Given the description of an element on the screen output the (x, y) to click on. 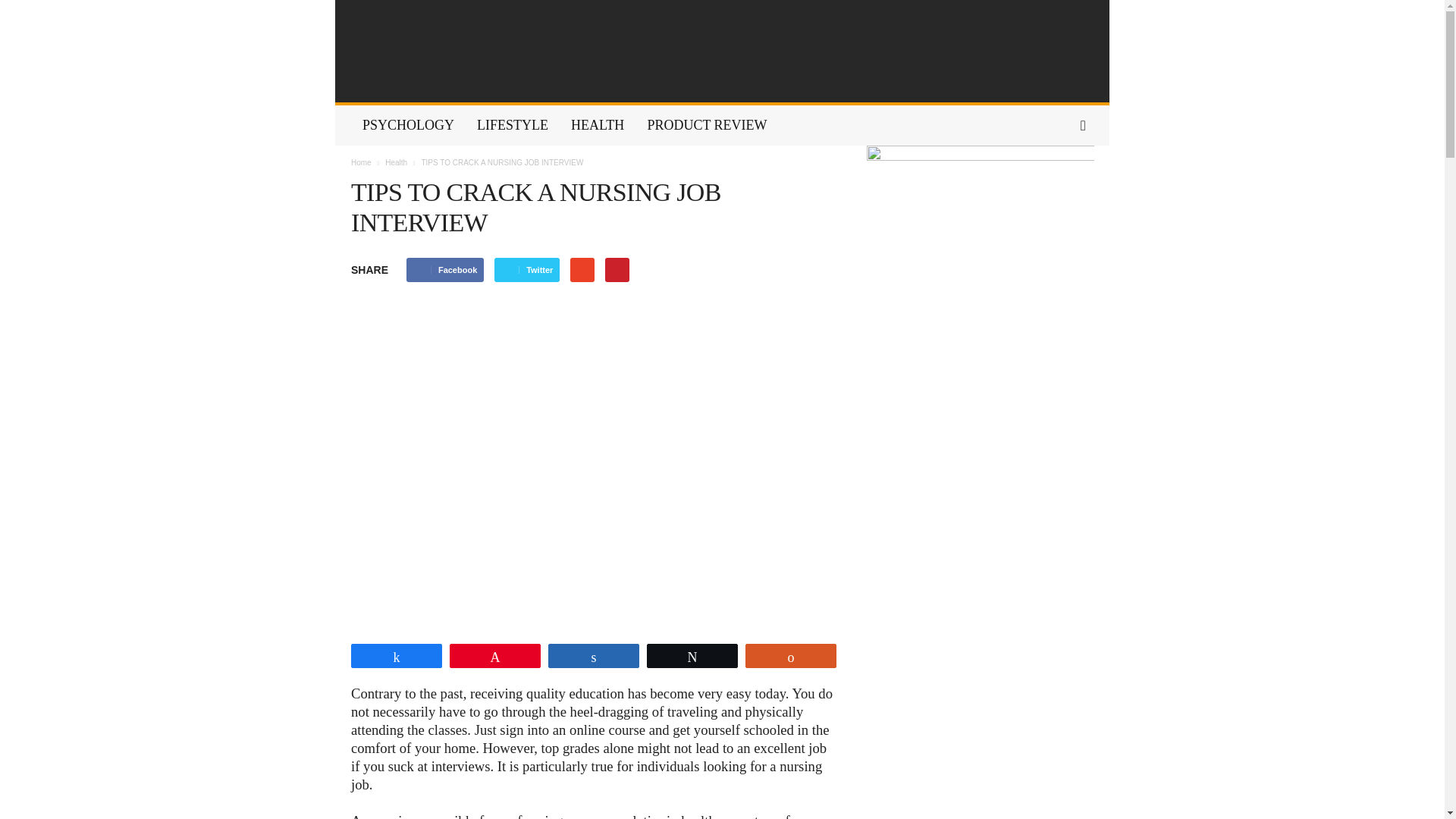
Twitter (527, 269)
HEALTH (596, 125)
Facebook (444, 269)
The Power Of Silence (721, 51)
Home (360, 162)
LIFESTYLE (512, 125)
PRODUCT REVIEW (705, 125)
Health (397, 162)
View all posts in Health (397, 162)
PSYCHOLOGY (407, 125)
